Given the description of an element on the screen output the (x, y) to click on. 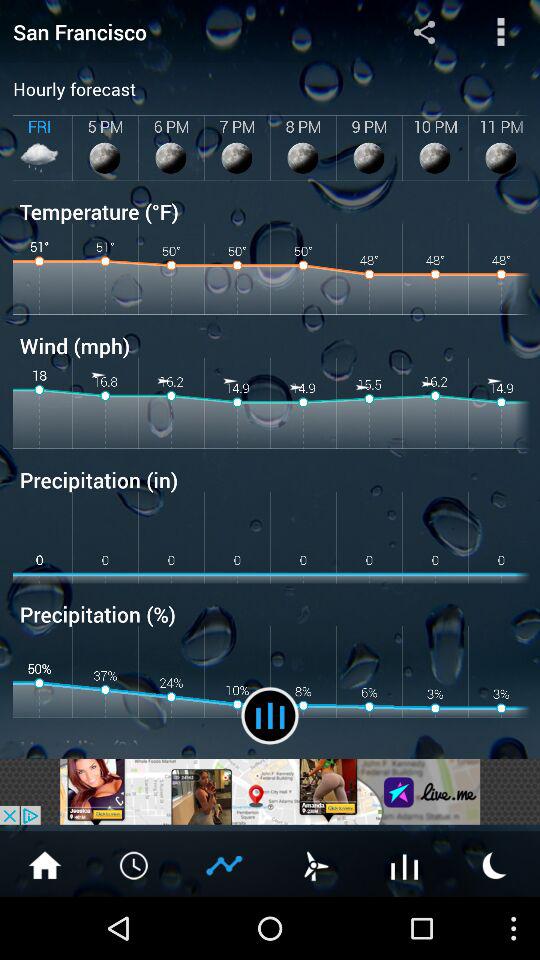
open the item above hourly forecast (179, 31)
